Given the description of an element on the screen output the (x, y) to click on. 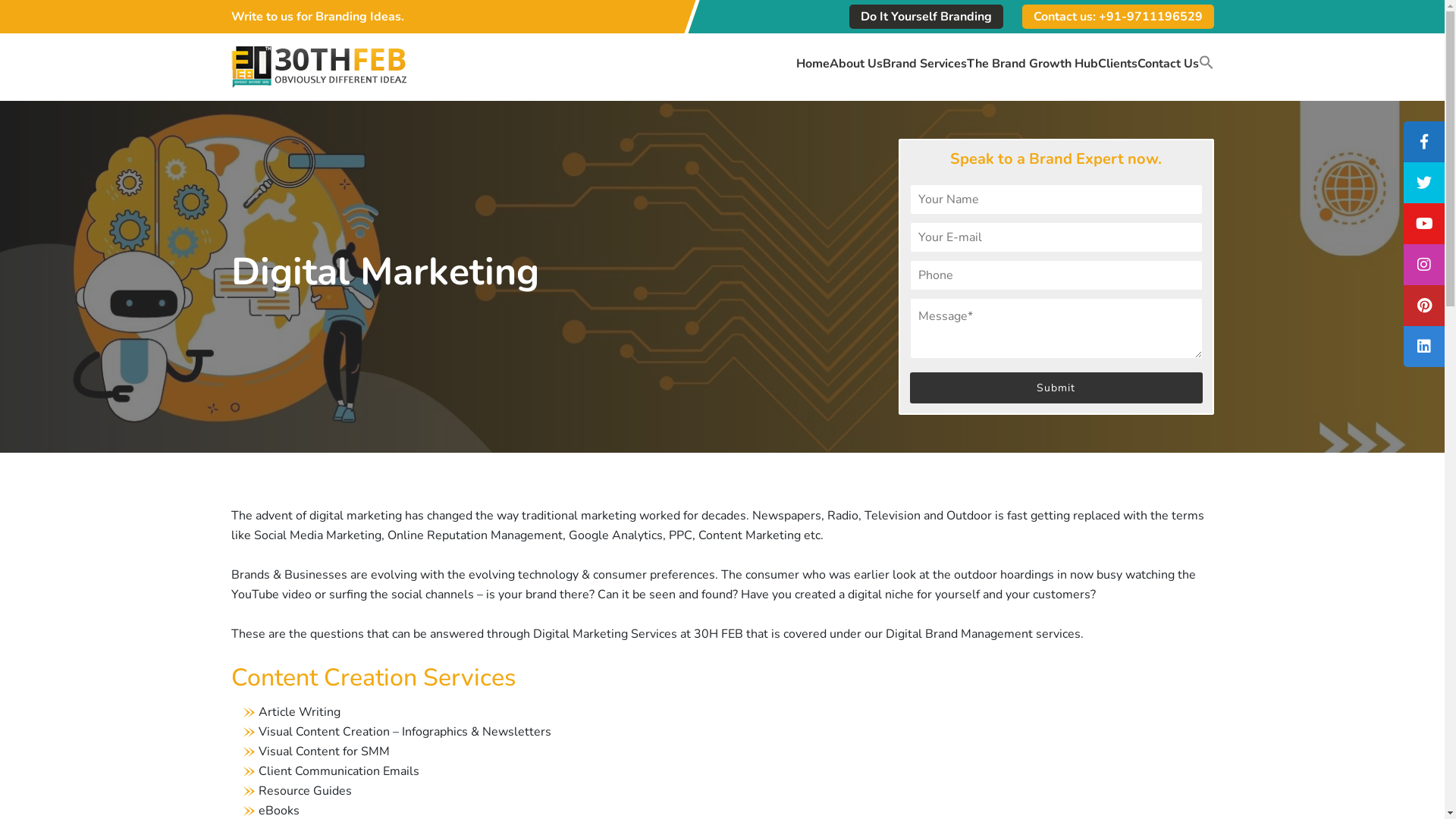
Contact us: +91-9711196529 Element type: text (1118, 16)
Submit Element type: text (1056, 387)
About Us Element type: text (855, 70)
Brand Services Element type: text (924, 70)
Contact Us Element type: text (1167, 70)
Home Element type: text (812, 70)
Write to us for Branding Ideas. Element type: text (316, 16)
The Brand Growth Hub Element type: text (1031, 70)
Clients Element type: text (1117, 70)
Do It Yourself Branding Element type: text (926, 16)
